Given the description of an element on the screen output the (x, y) to click on. 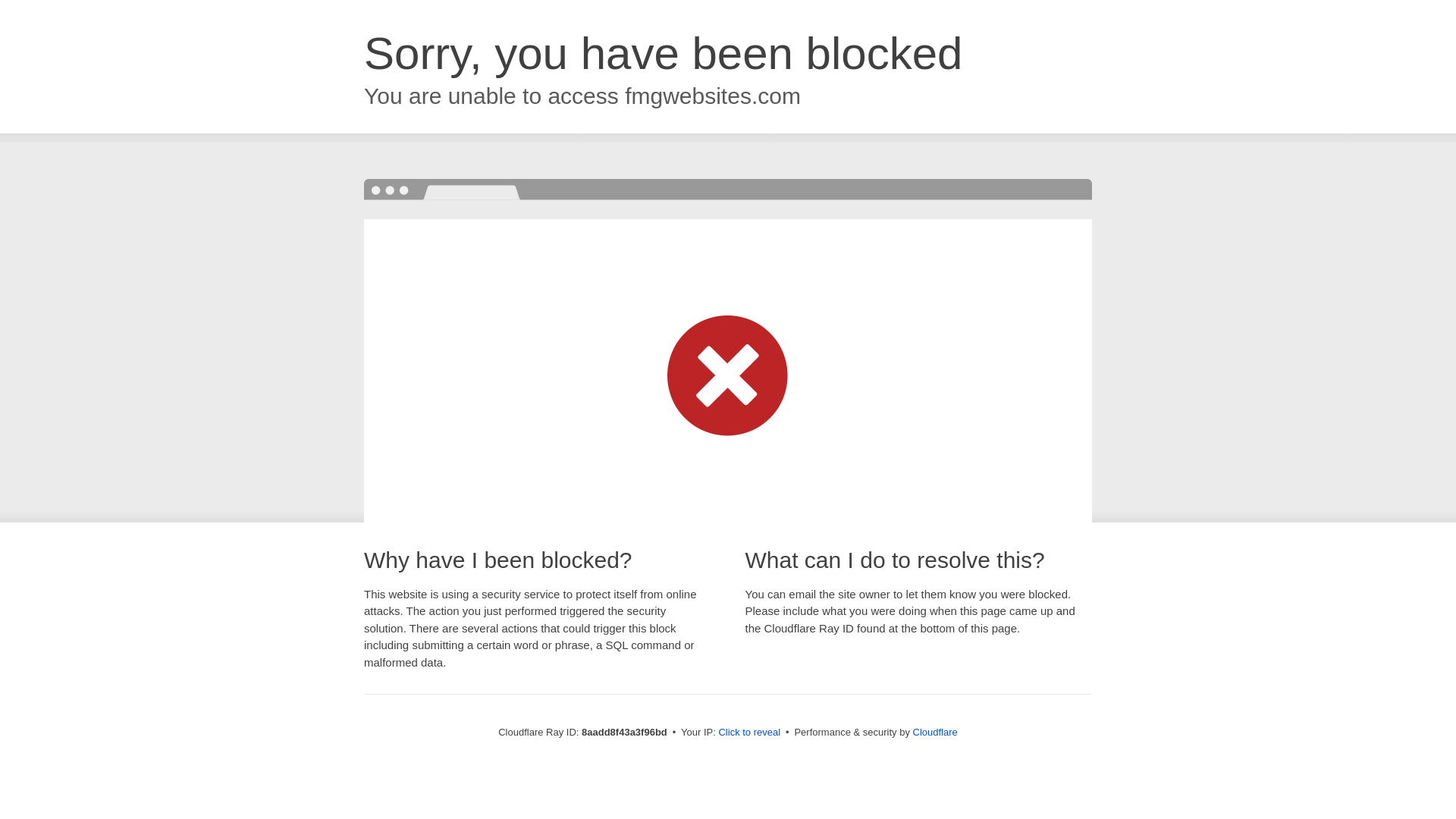
Cloudflare (935, 731)
Click to reveal (748, 732)
